Given the description of an element on the screen output the (x, y) to click on. 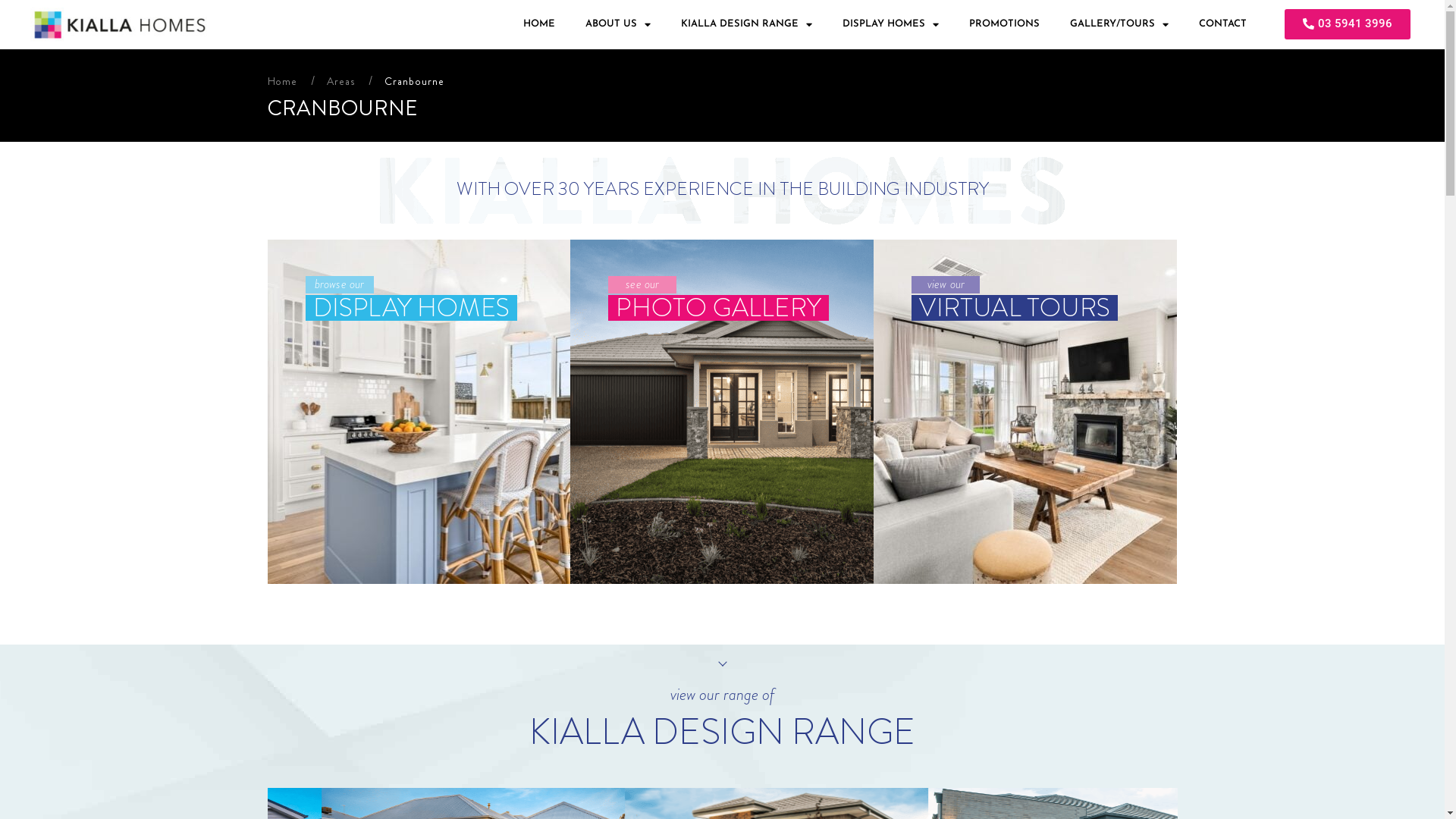
DISPLAY HOMES Element type: text (890, 23)
KIALLA DESIGN RANGE Element type: text (746, 23)
CONTACT Element type: text (1222, 23)
GALLERY/TOURS Element type: text (1118, 23)
view our
VIRTUAL TOURS Element type: text (1024, 411)
03 5941 3996 Element type: text (1347, 24)
see our
PHOTO GALLERY Element type: text (721, 411)
ABOUT US Element type: text (617, 23)
HOME Element type: text (539, 23)
Areas Element type: text (340, 80)
browse our
DISPLAY HOMES Element type: text (418, 411)
Home Element type: text (281, 80)
PROMOTIONS Element type: text (1003, 23)
